Given the description of an element on the screen output the (x, y) to click on. 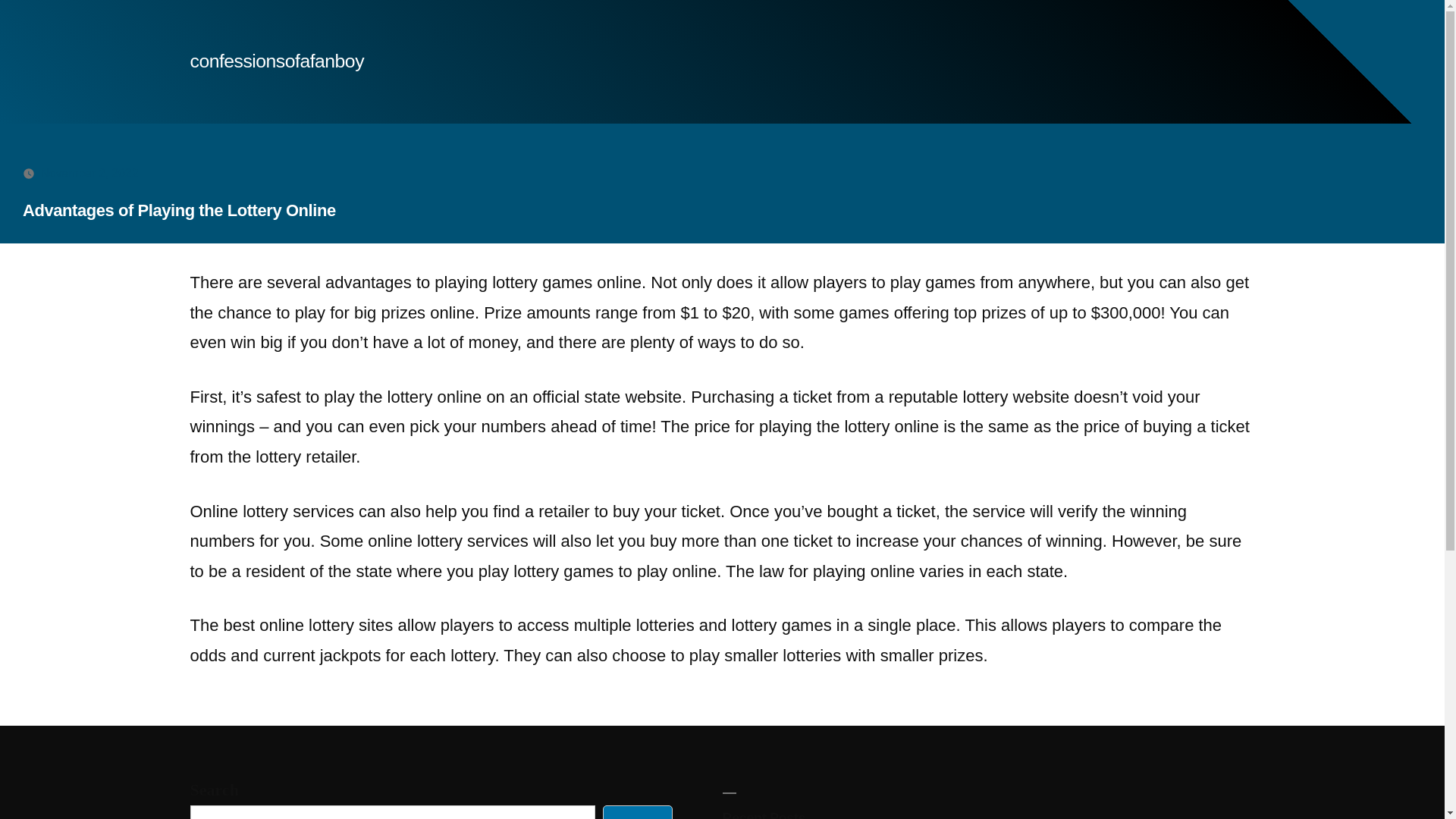
November 2, 2022 (89, 173)
Search (637, 812)
confessionsofafanboy (276, 60)
